Given the description of an element on the screen output the (x, y) to click on. 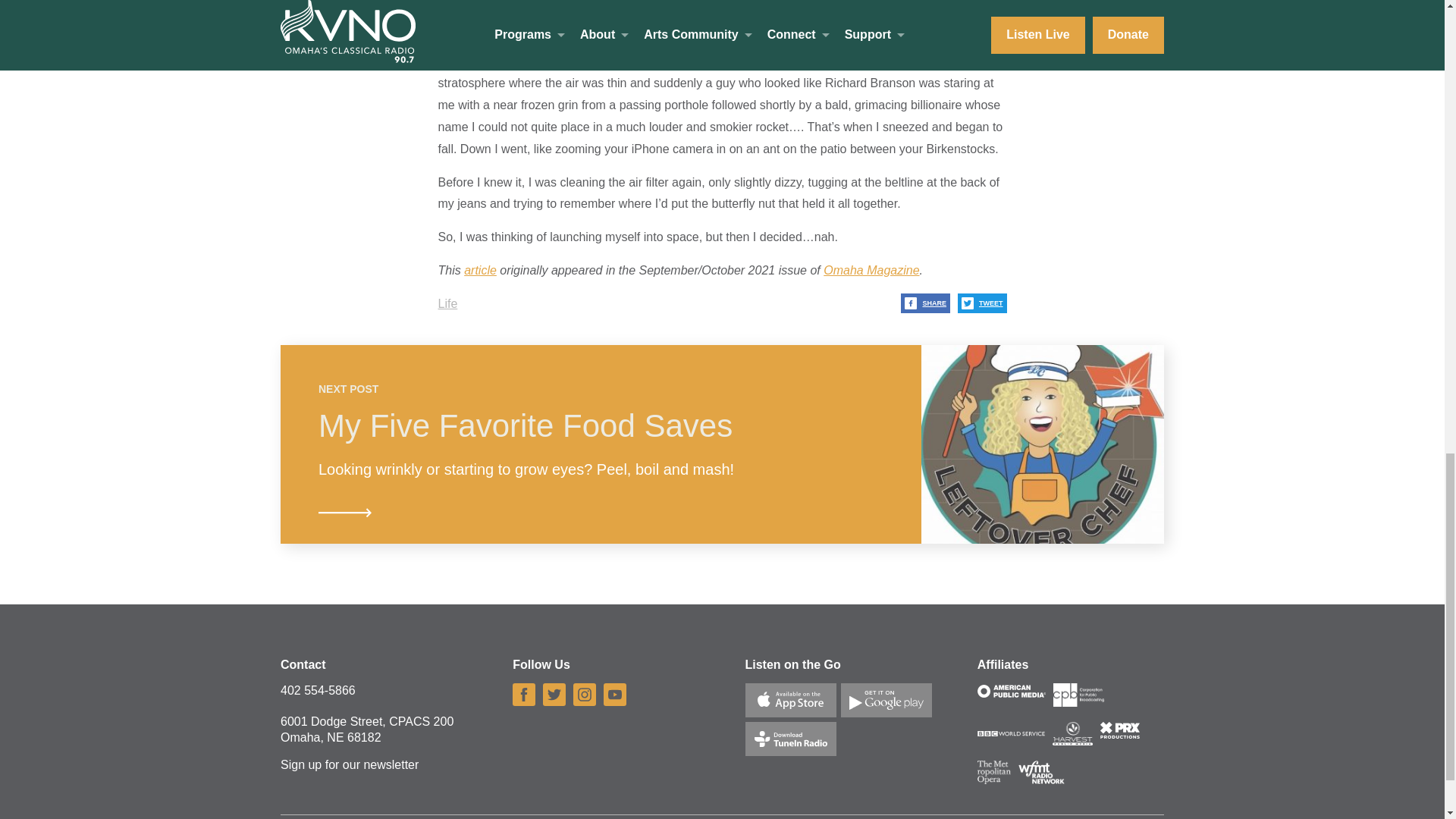
Life (448, 303)
Omaha Magazine (871, 269)
article (480, 269)
